Given the description of an element on the screen output the (x, y) to click on. 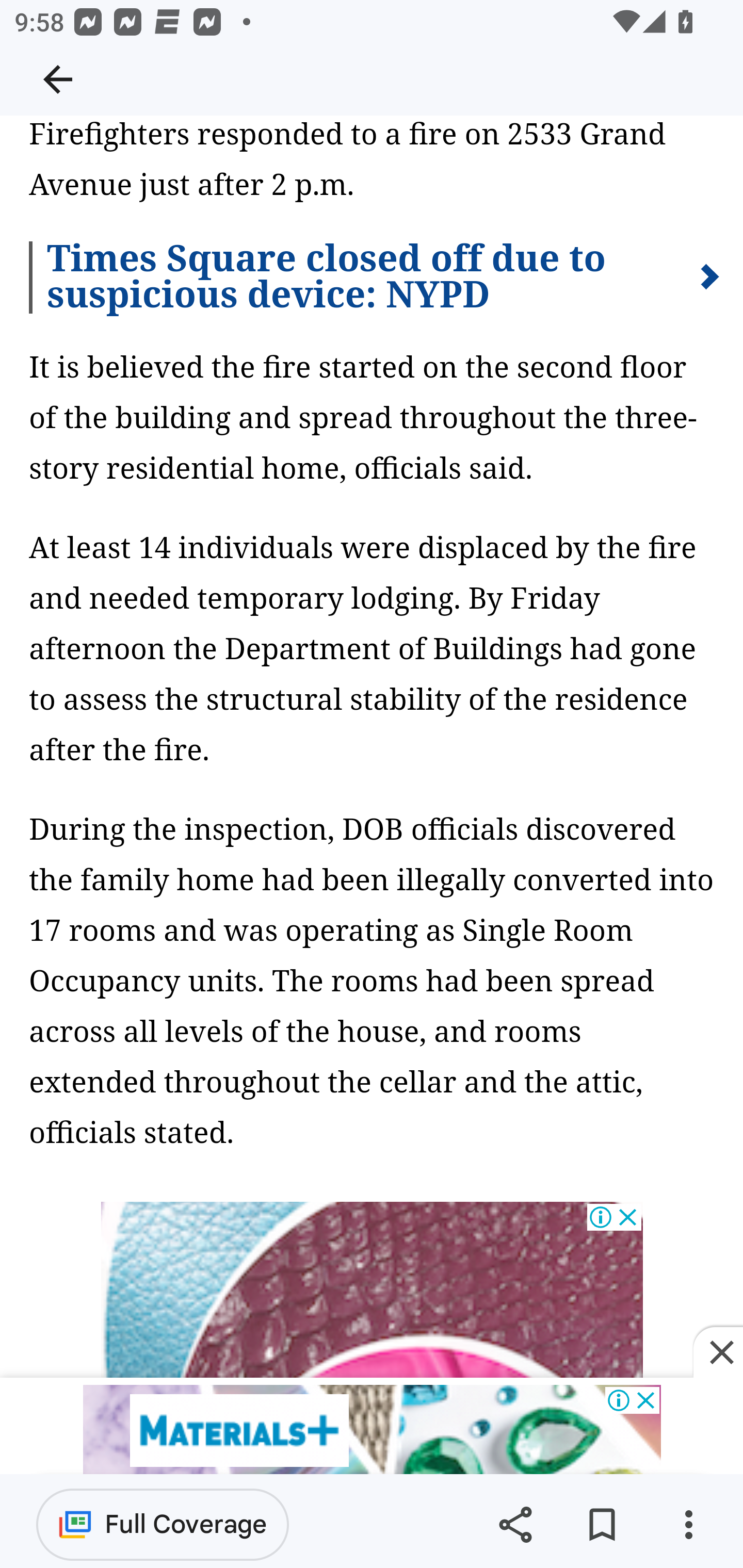
Navigate up (57, 79)
Close this ad (718, 1353)
Share (514, 1524)
Save for later (601, 1524)
More options (688, 1524)
Full Coverage (162, 1524)
